Given the description of an element on the screen output the (x, y) to click on. 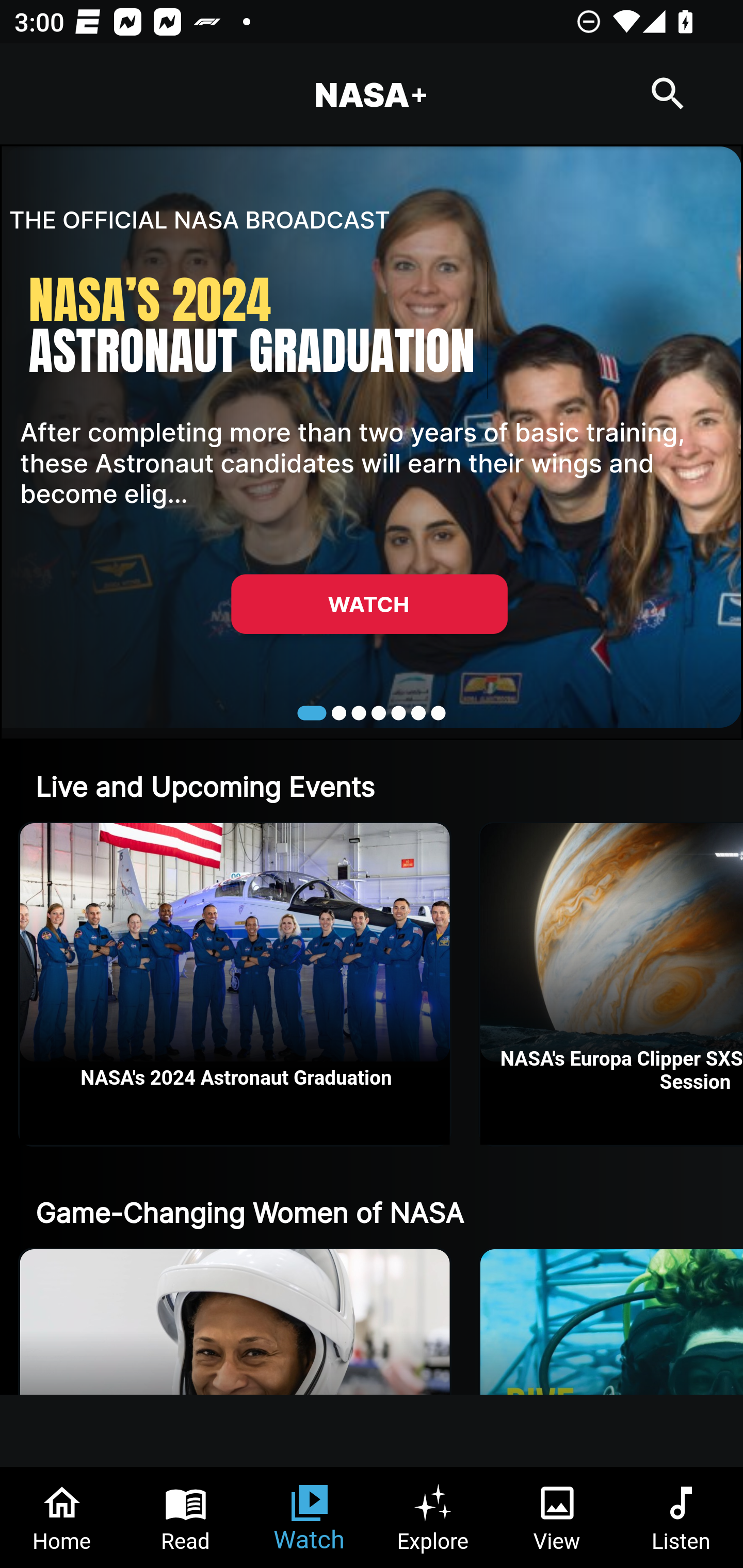
WATCH (369, 603)
NASA's 2024 Astronaut Graduation (235, 983)
NASA's Europa Clipper SXSW 2024 Opening Session (611, 983)
Home
Tab 1 of 6 (62, 1517)
Read
Tab 2 of 6 (185, 1517)
Watch
Tab 3 of 6 (309, 1517)
Explore
Tab 4 of 6 (433, 1517)
View
Tab 5 of 6 (556, 1517)
Listen
Tab 6 of 6 (680, 1517)
